Given the description of an element on the screen output the (x, y) to click on. 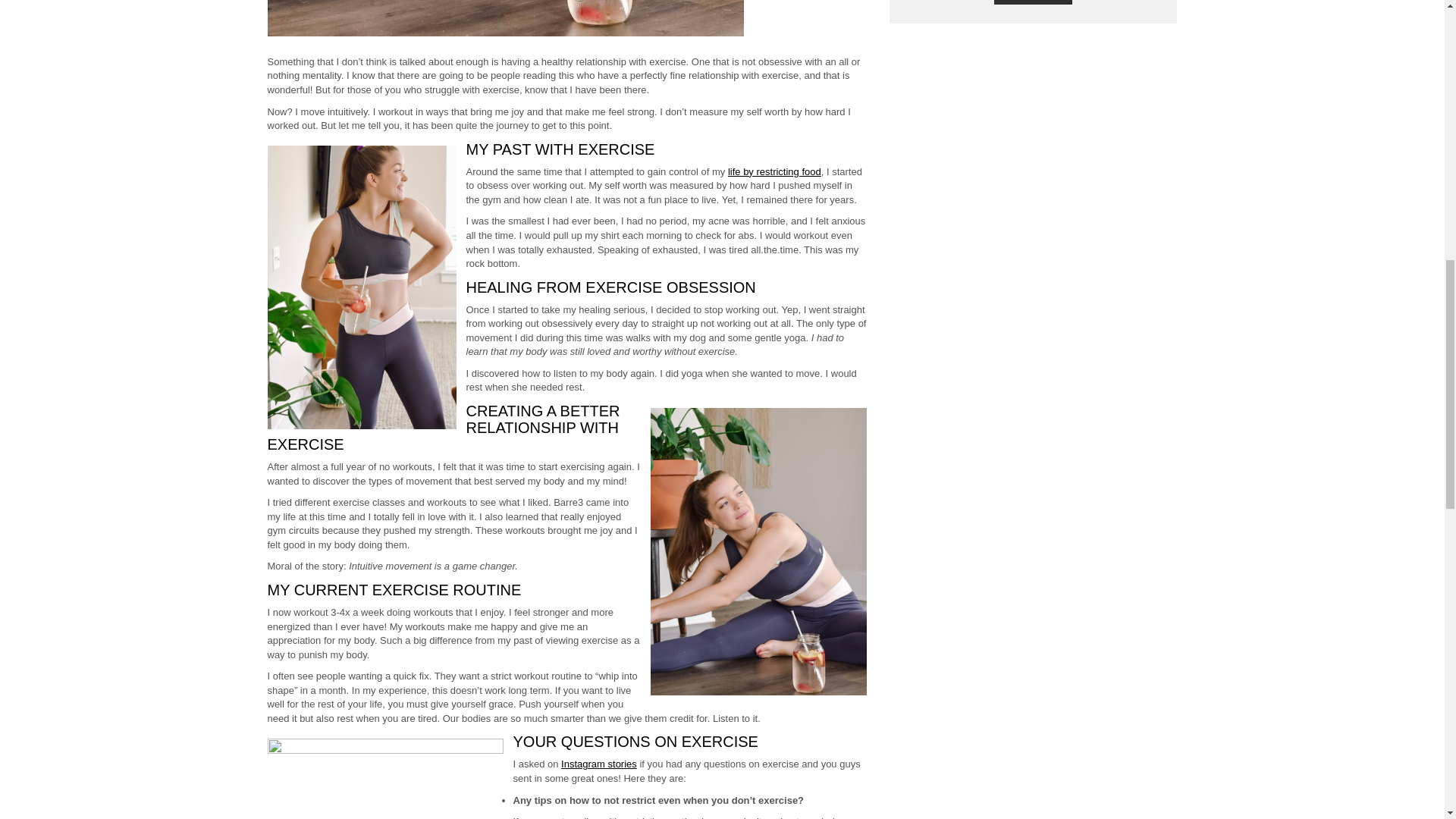
life by restricting food (774, 171)
SEARCH (1033, 2)
Instagram stories (598, 763)
